Given the description of an element on the screen output the (x, y) to click on. 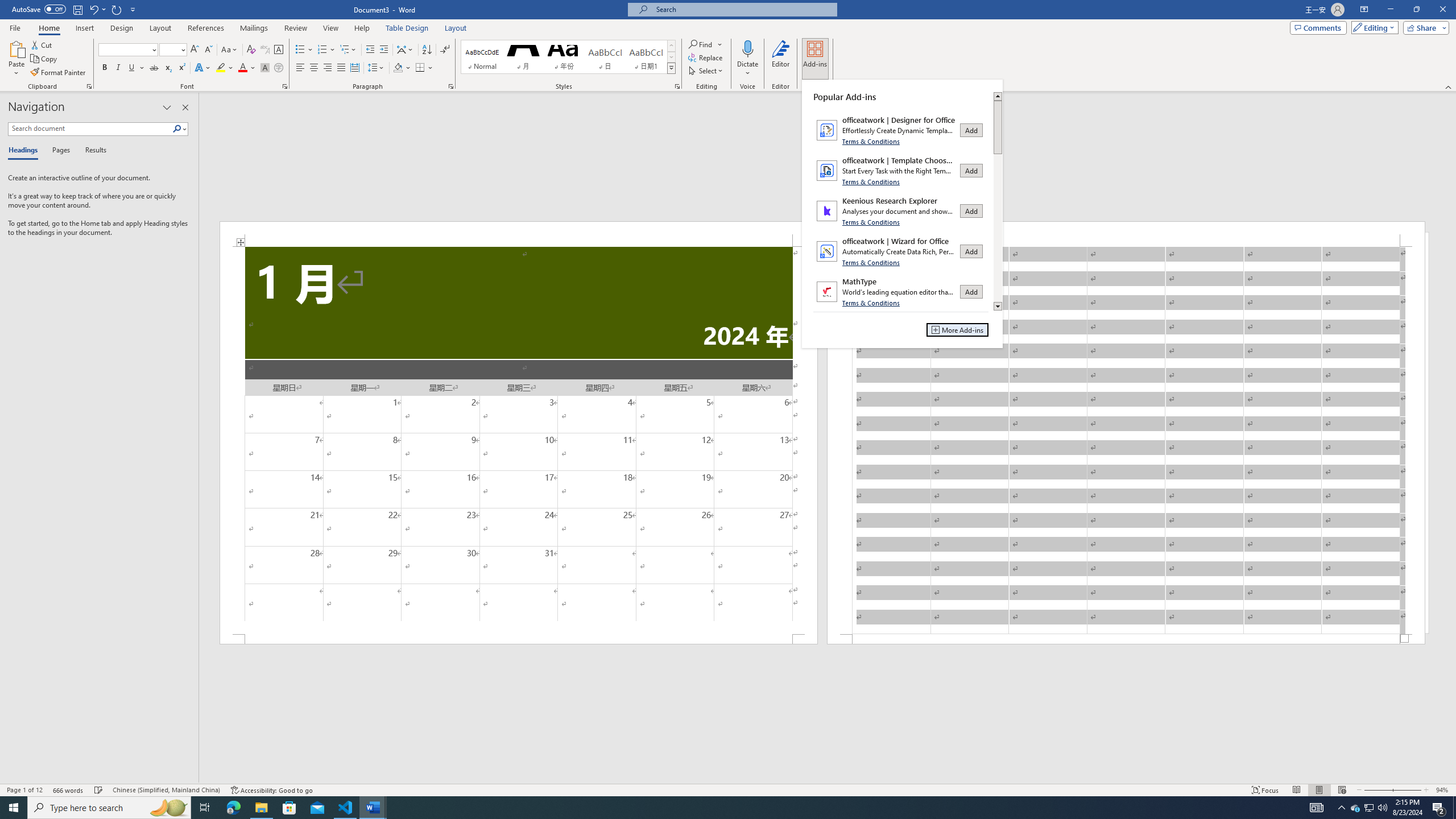
Running applications (717, 807)
